Given the description of an element on the screen output the (x, y) to click on. 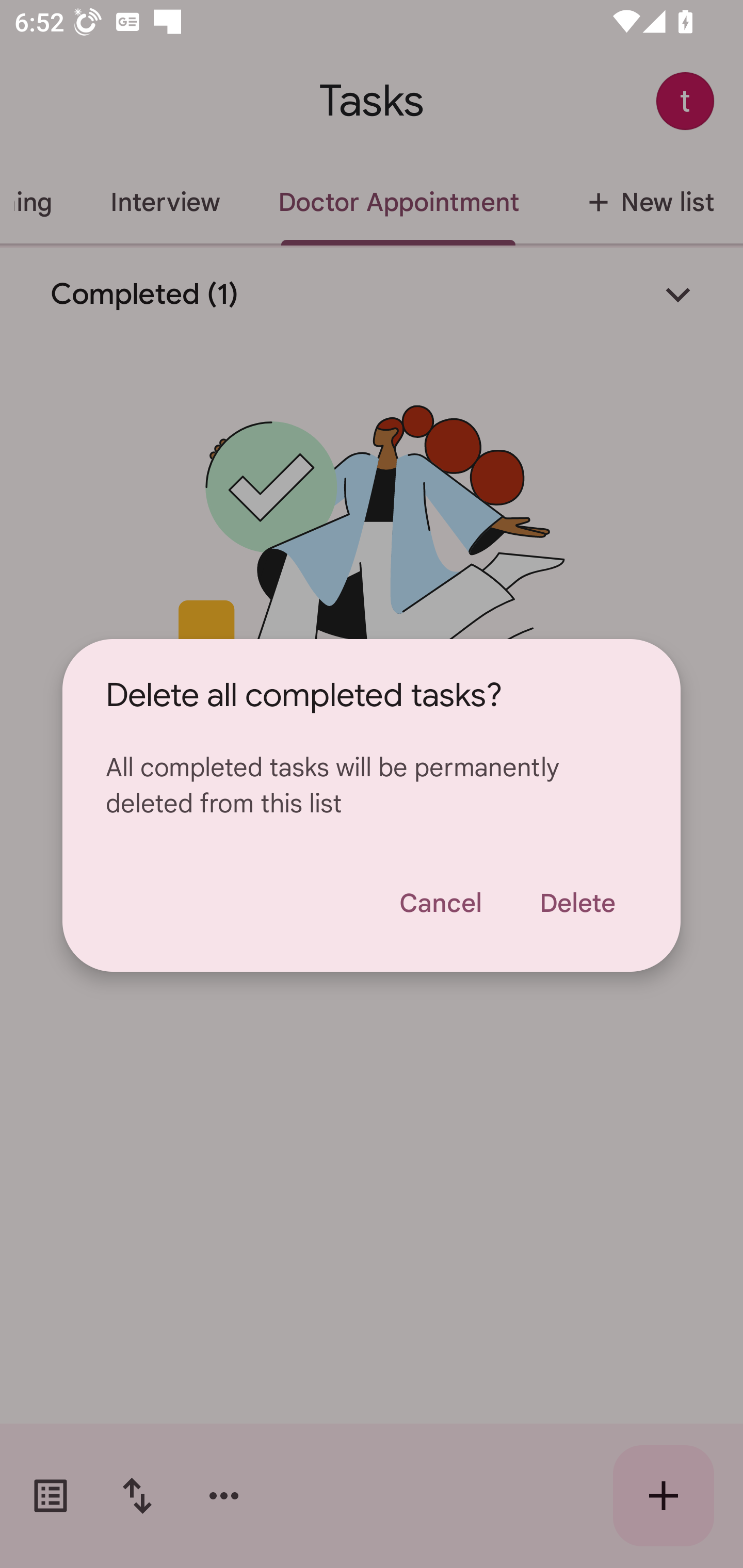
Cancel (440, 903)
Delete (577, 903)
